Given the description of an element on the screen output the (x, y) to click on. 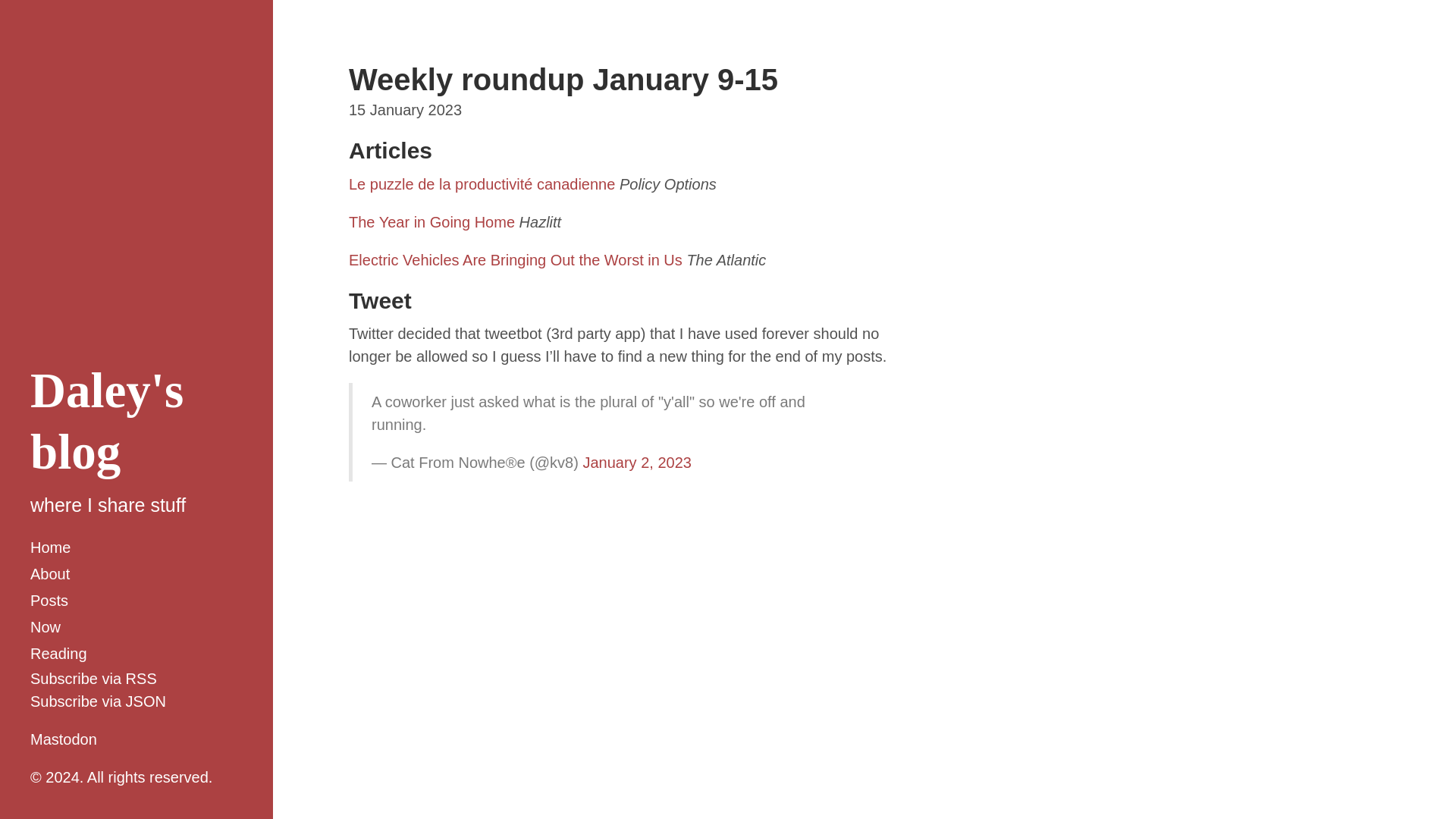
About (136, 574)
Electric Vehicles Are Bringing Out the Worst in Us (515, 259)
The Year in Going Home (432, 221)
Daley's blog (106, 421)
January 2, 2023 (636, 462)
Home (136, 547)
The Year in Going Home. By Shawn Micallef (432, 221)
